Given the description of an element on the screen output the (x, y) to click on. 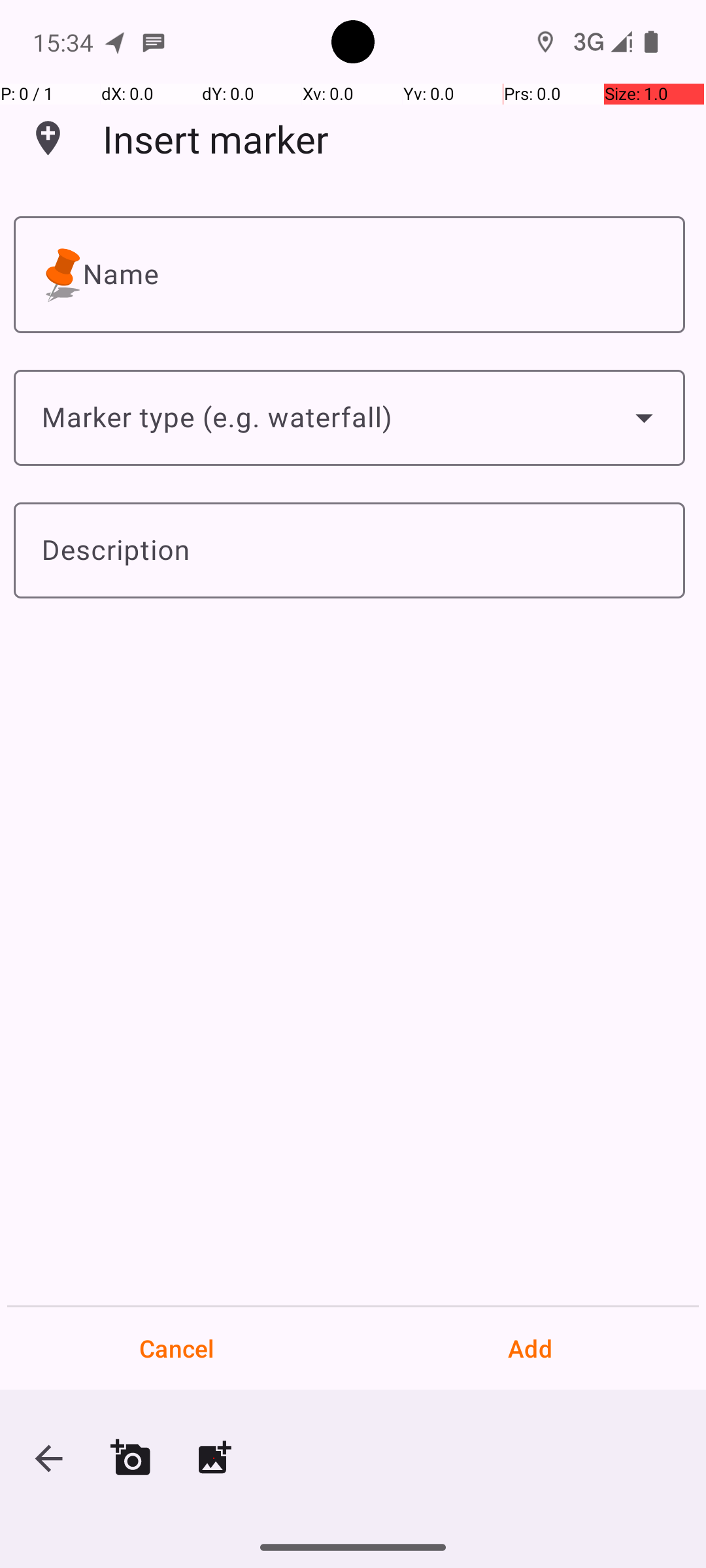
Insert marker Element type: android.widget.TextView (215, 138)
Insert photo Element type: android.widget.Button (130, 1458)
Insert gallery image Element type: android.widget.Button (213, 1458)
Marker type (e.g. waterfall) Element type: android.widget.AutoCompleteTextView (349, 417)
